Given the description of an element on the screen output the (x, y) to click on. 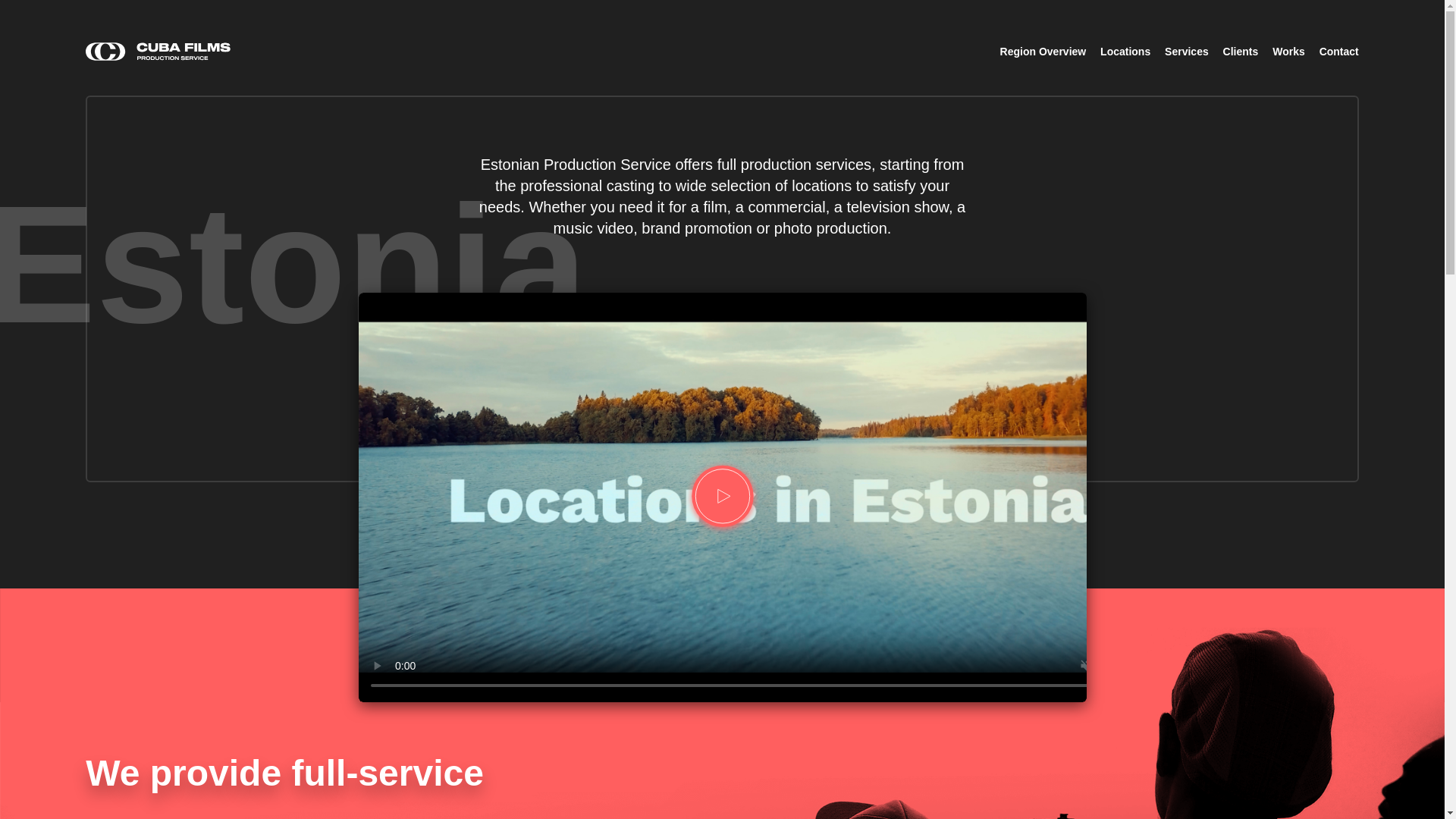
Region Overview (1043, 51)
Locations (1125, 51)
Clients (1241, 51)
Services (1186, 51)
Works (1288, 51)
Contact (1338, 51)
